Given the description of an element on the screen output the (x, y) to click on. 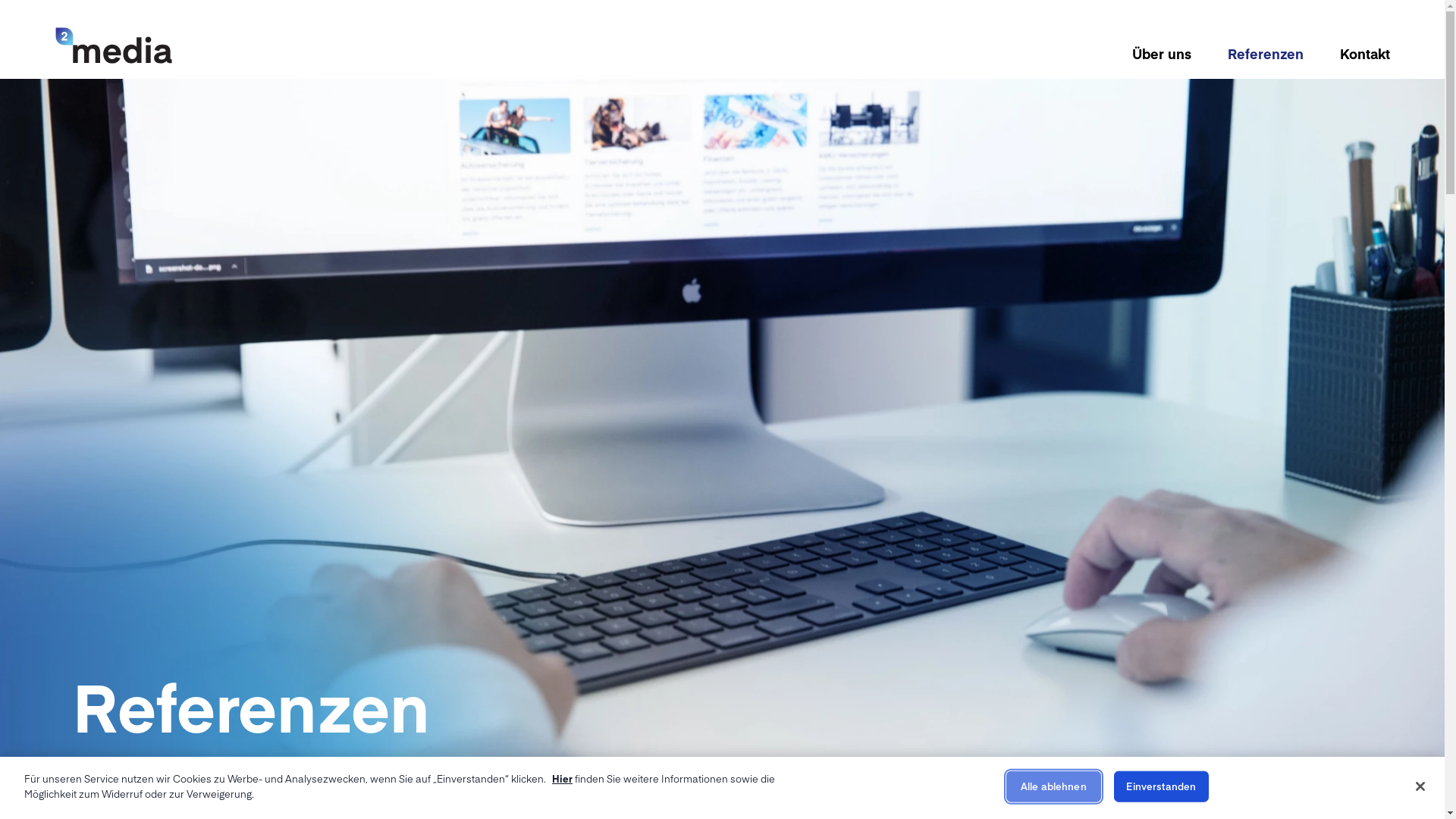
Alle ablehnen Element type: text (1053, 787)
Kontakt Element type: text (1364, 53)
2media Startseite Element type: hover (113, 45)
Hier Element type: text (562, 778)
Referenzen Element type: text (1264, 53)
Einverstanden Element type: text (1160, 787)
